Given the description of an element on the screen output the (x, y) to click on. 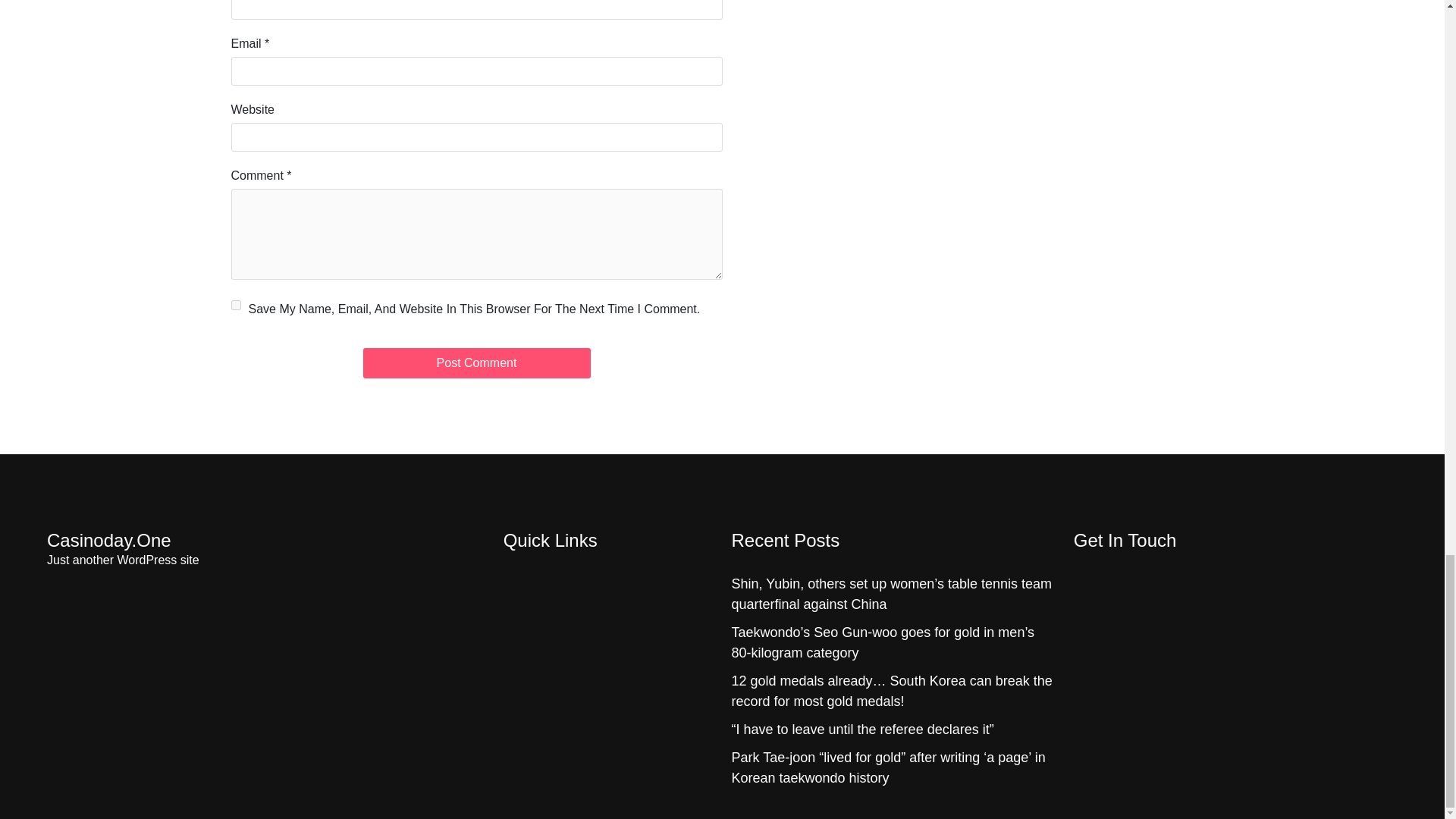
yes (235, 305)
Post Comment (475, 363)
Post Comment (475, 363)
